Given the description of an element on the screen output the (x, y) to click on. 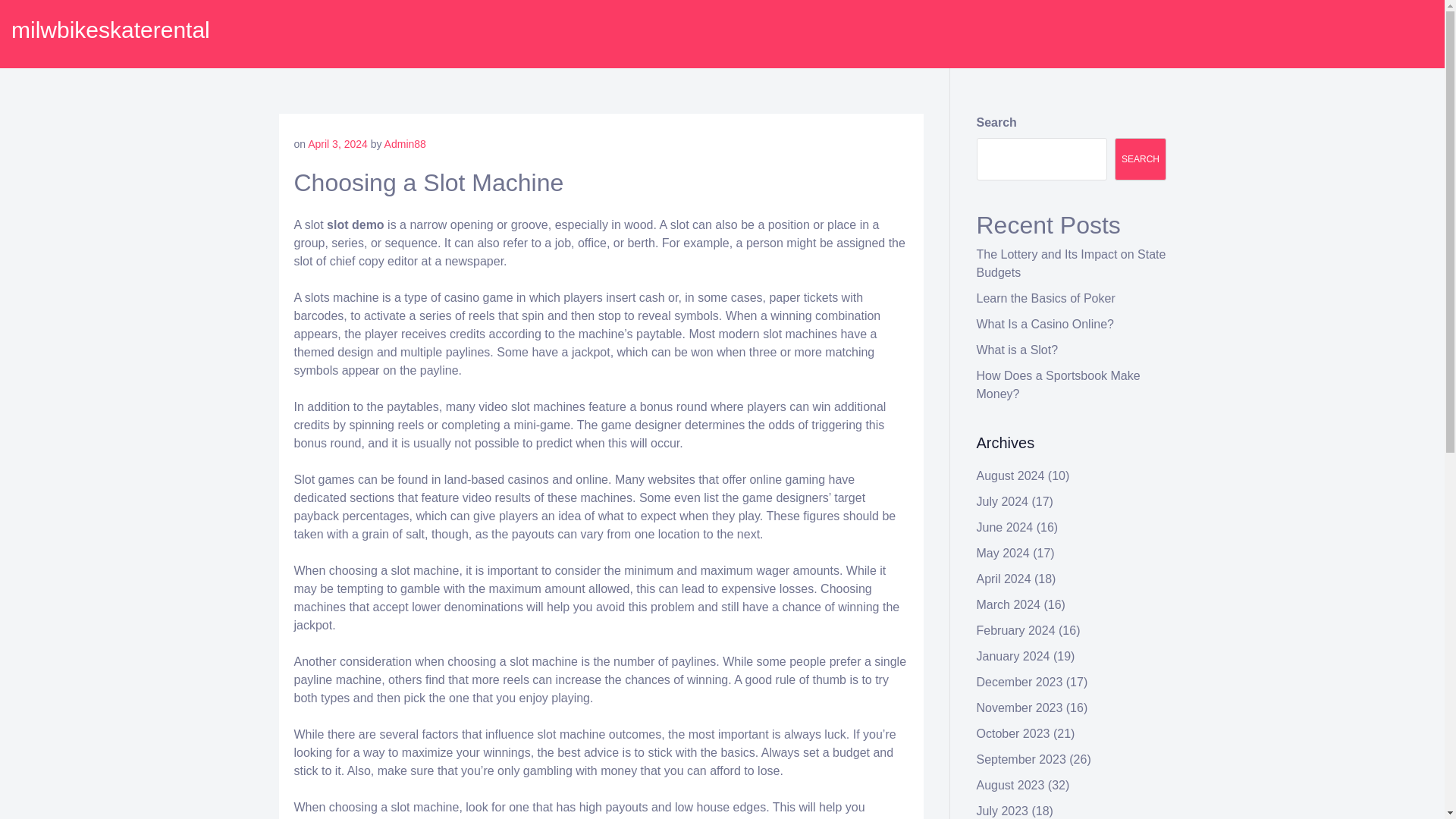
What Is a Casino Online? (1044, 323)
March 2024 (1008, 604)
SEARCH (1140, 159)
Admin88 (405, 143)
November 2023 (1019, 707)
September 2023 (1020, 758)
What is a Slot? (1017, 349)
slot demo (355, 224)
April 3, 2024 (337, 143)
February 2024 (1015, 630)
